Given the description of an element on the screen output the (x, y) to click on. 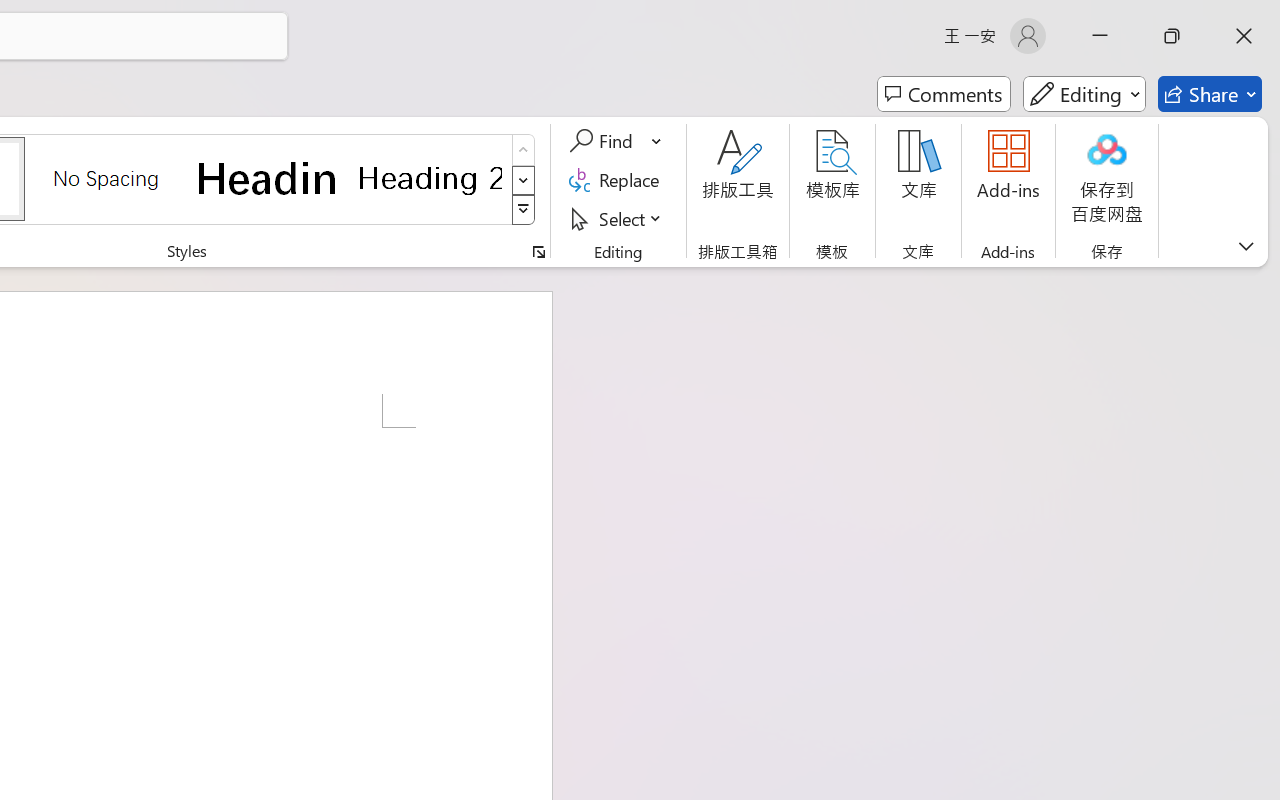
Heading 1 (267, 178)
Styles... (538, 252)
Select (618, 218)
